Given the description of an element on the screen output the (x, y) to click on. 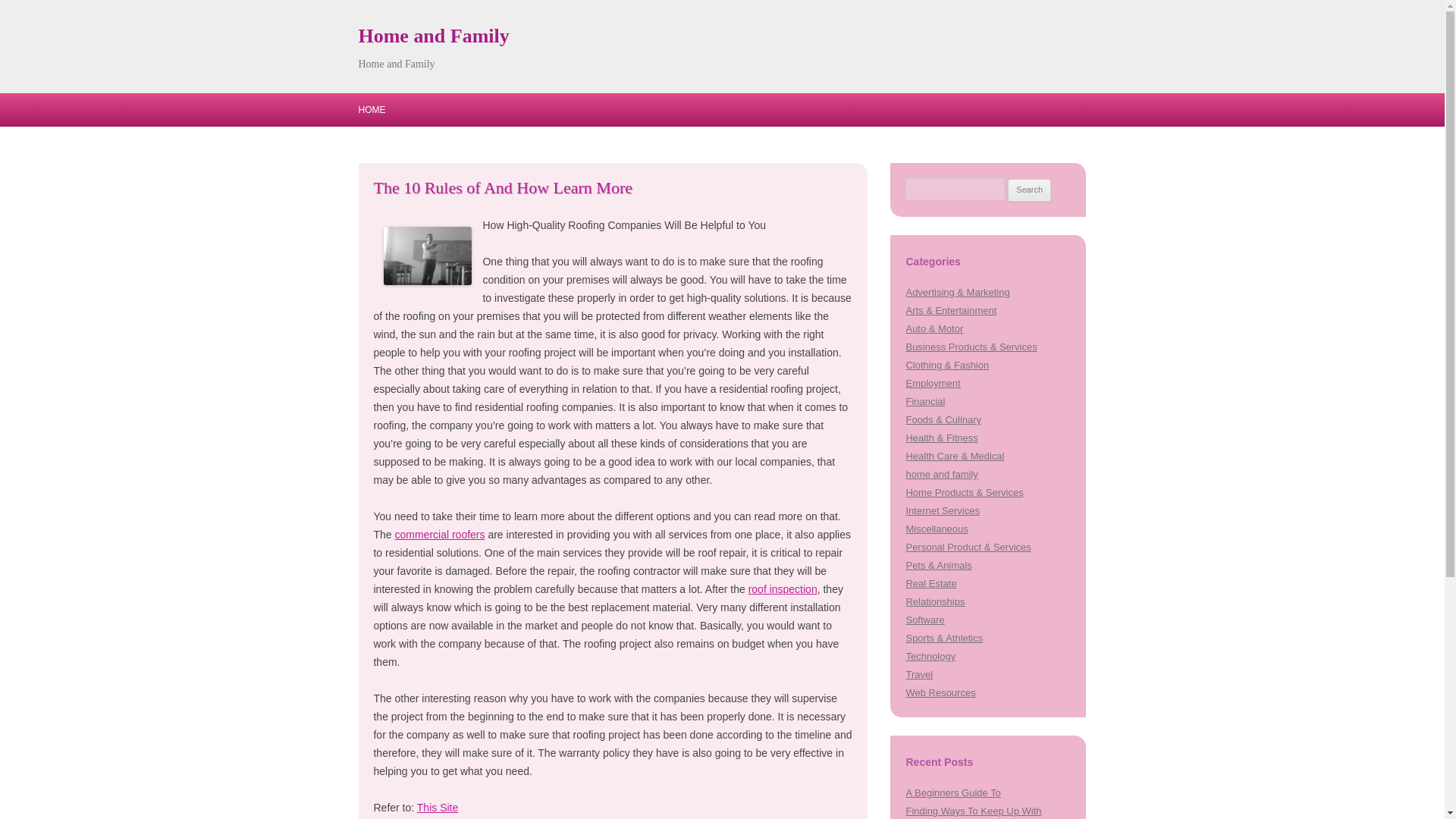
Home and Family (433, 36)
Miscellaneous (936, 528)
Search (1029, 190)
Travel (919, 674)
Search (1029, 190)
Real Estate (930, 583)
Finding Ways To Keep Up With (973, 810)
Home and Family (433, 36)
home and family (940, 473)
Software (924, 619)
Web Resources (940, 692)
Employment (932, 383)
A Beginners Guide To (952, 792)
